Given the description of an element on the screen output the (x, y) to click on. 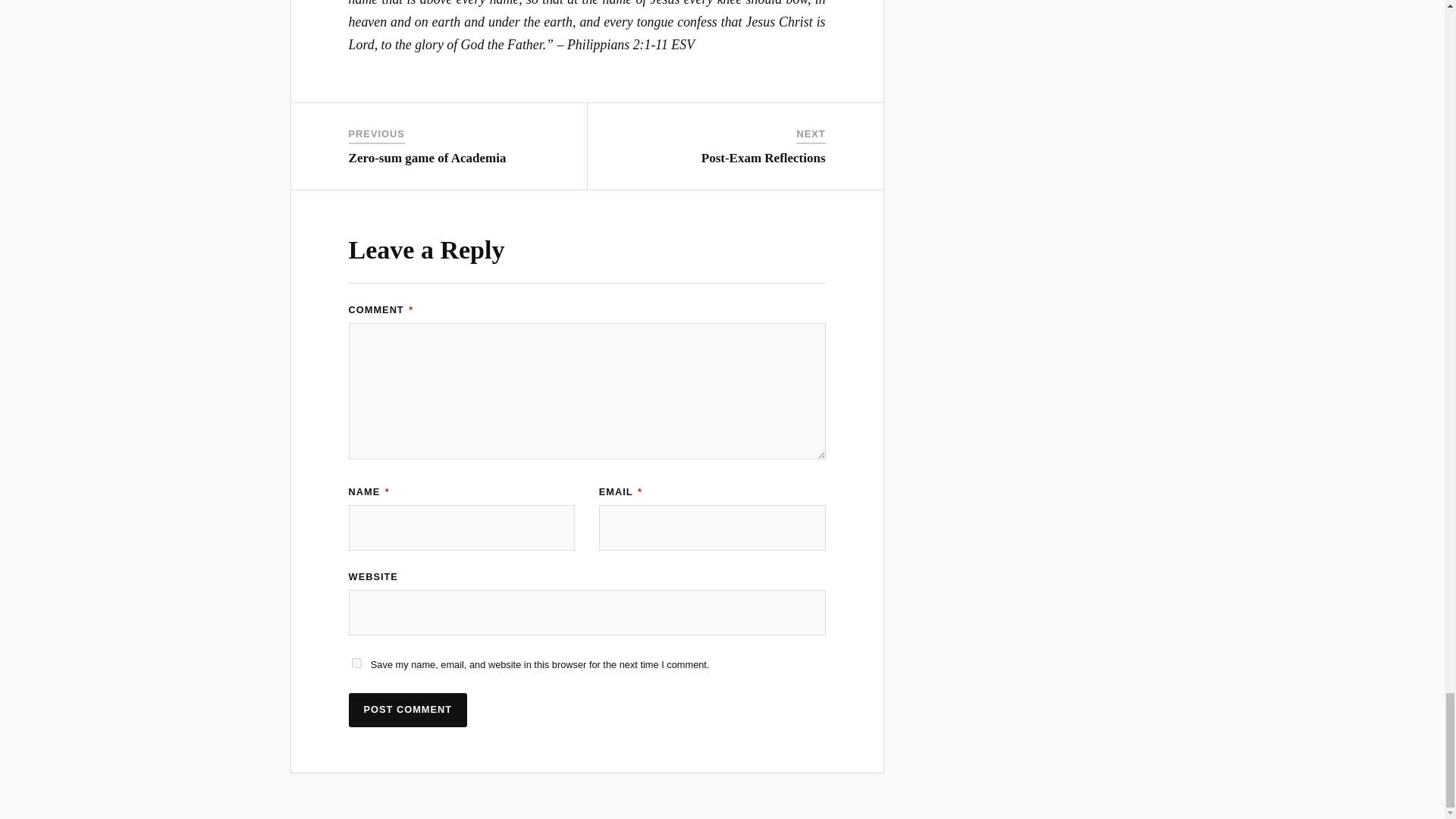
yes (356, 663)
Post-Exam Reflections (763, 157)
Post Comment (408, 709)
Zero-sum game of Academia (427, 157)
Post Comment (408, 709)
